Given the description of an element on the screen output the (x, y) to click on. 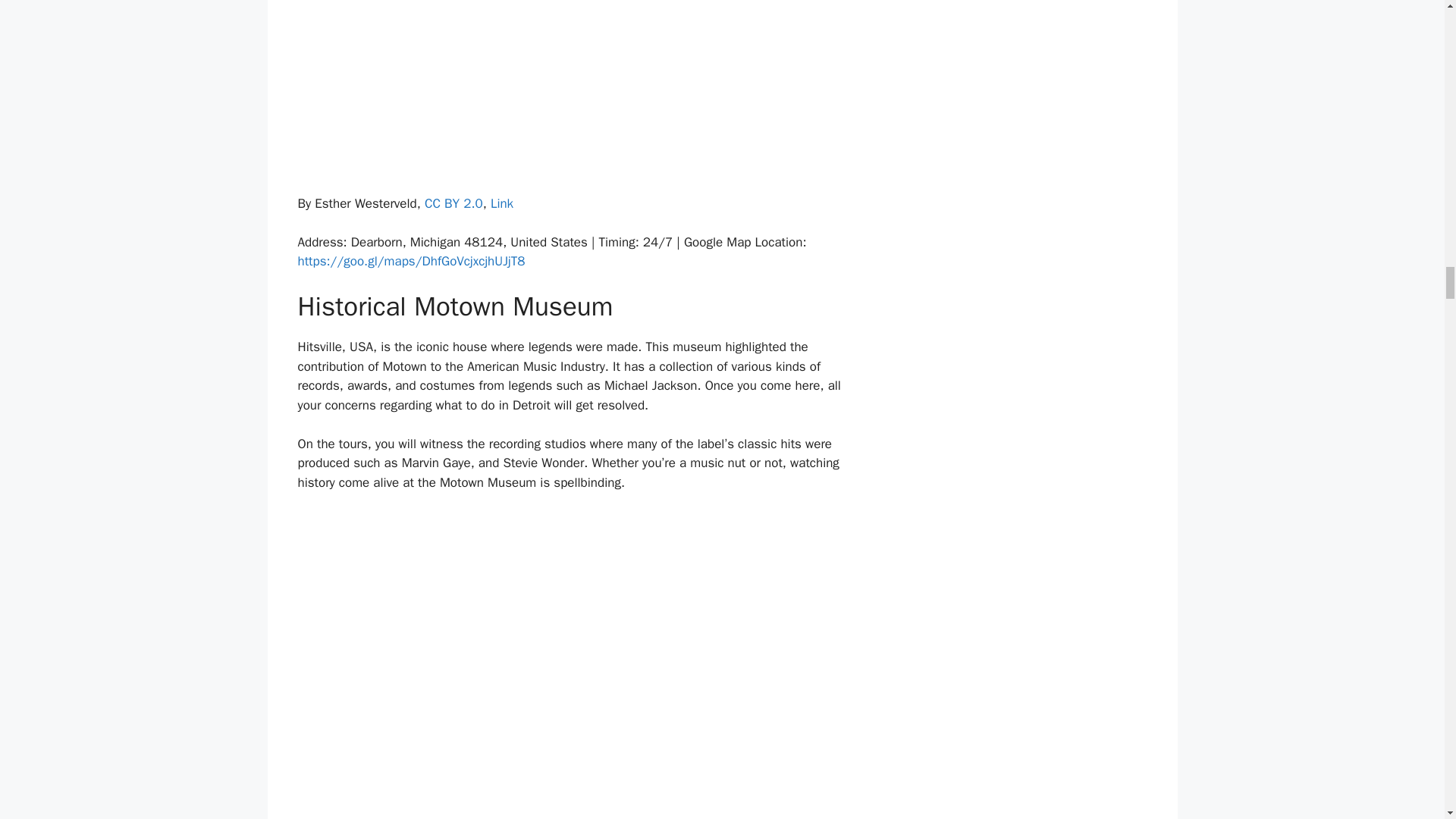
Creative Commons Attribution 2.0 (454, 203)
